Given the description of an element on the screen output the (x, y) to click on. 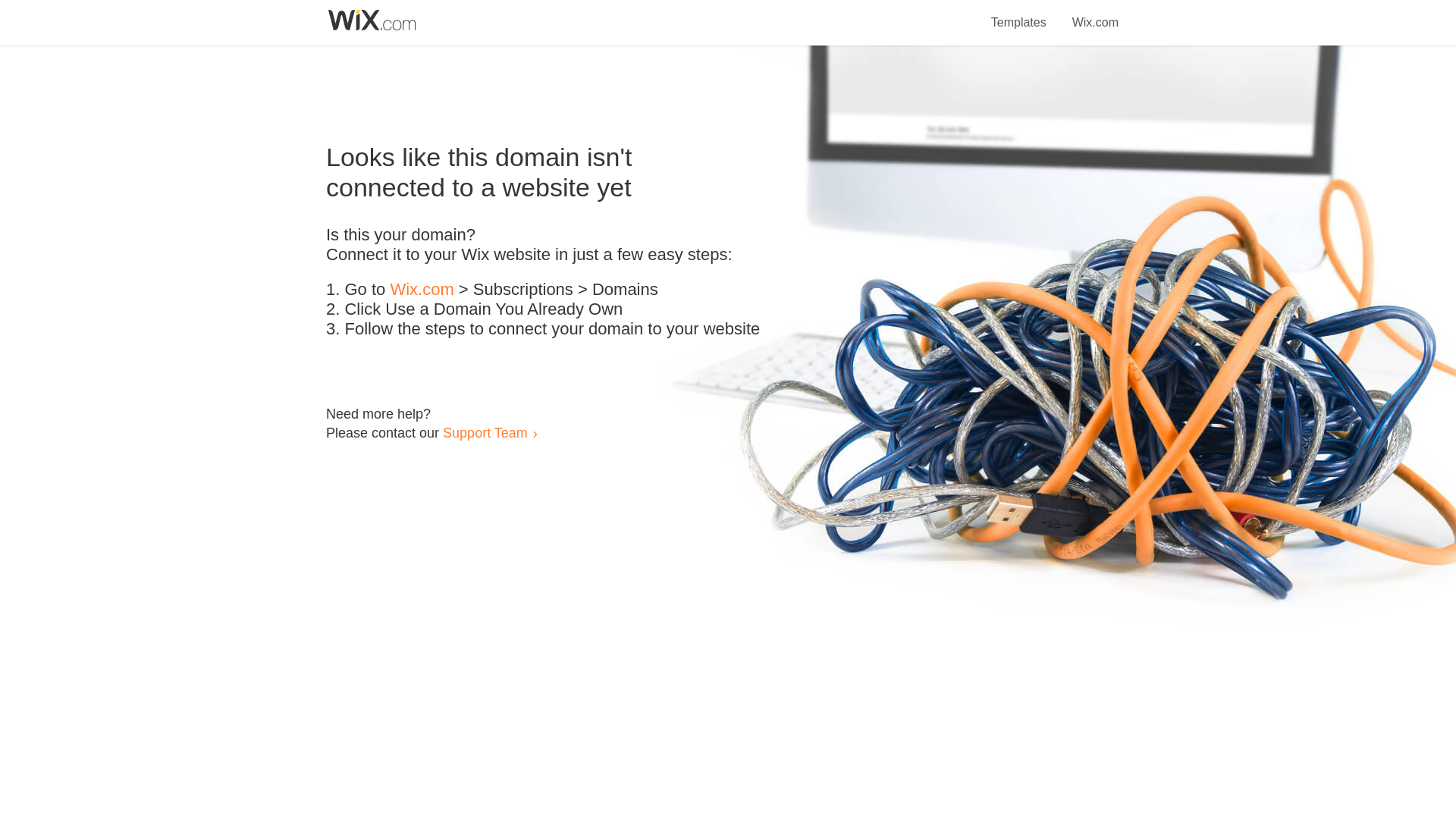
Support Team (484, 432)
Wix.com (1095, 14)
Templates (1018, 14)
Wix.com (421, 289)
